Given the description of an element on the screen output the (x, y) to click on. 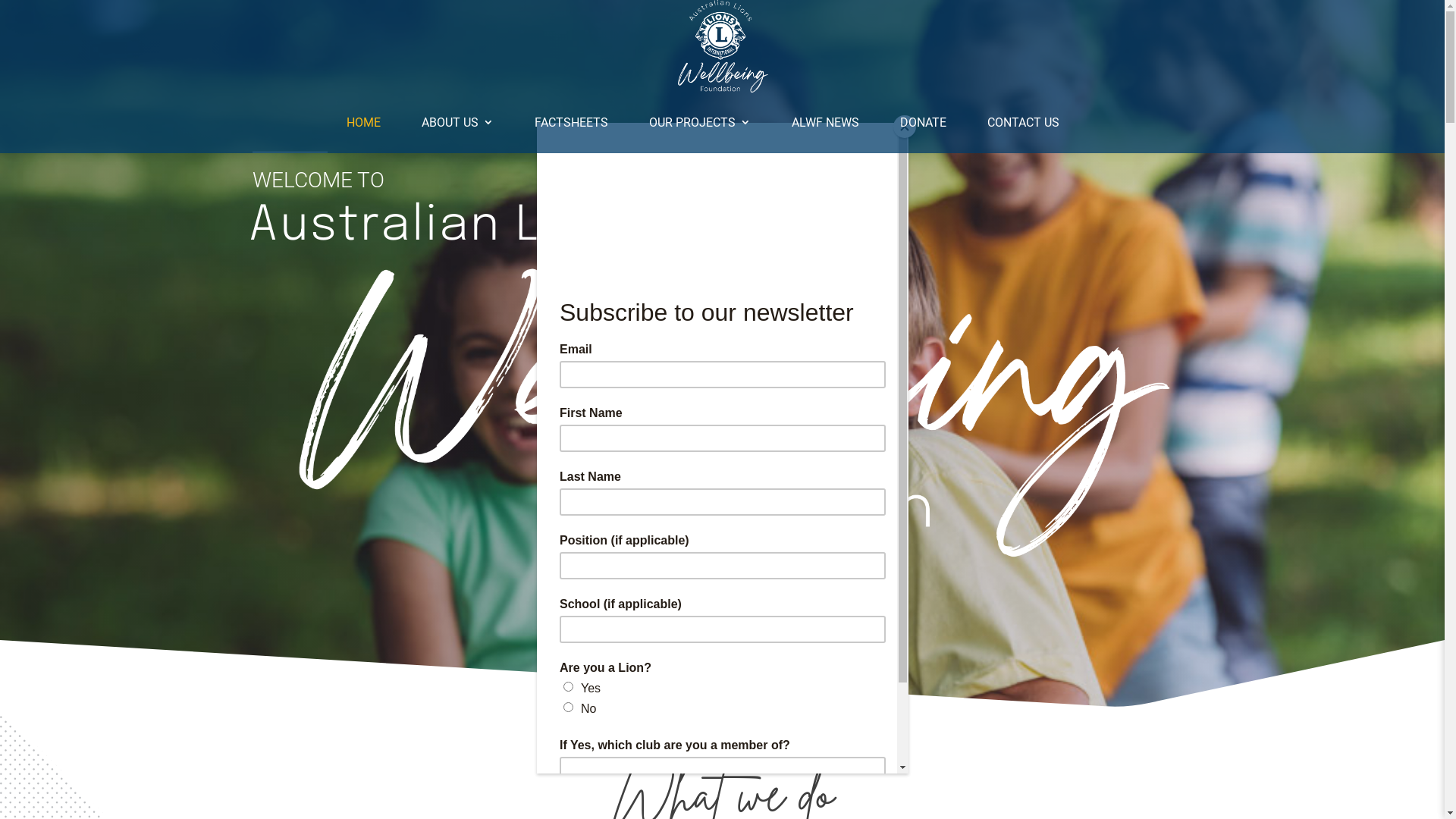
DONATE Element type: text (922, 122)
HOME Element type: text (362, 122)
OUR PROJECTS Element type: text (699, 122)
FACTSHEETS Element type: text (570, 122)
ALWF NEWS Element type: text (825, 122)
Wellbeing_With_Foundation_ALWF_RBG-05 Element type: hover (721, 410)
ABOUT US Element type: text (457, 122)
CONTACT US Element type: text (1023, 122)
